Given the description of an element on the screen output the (x, y) to click on. 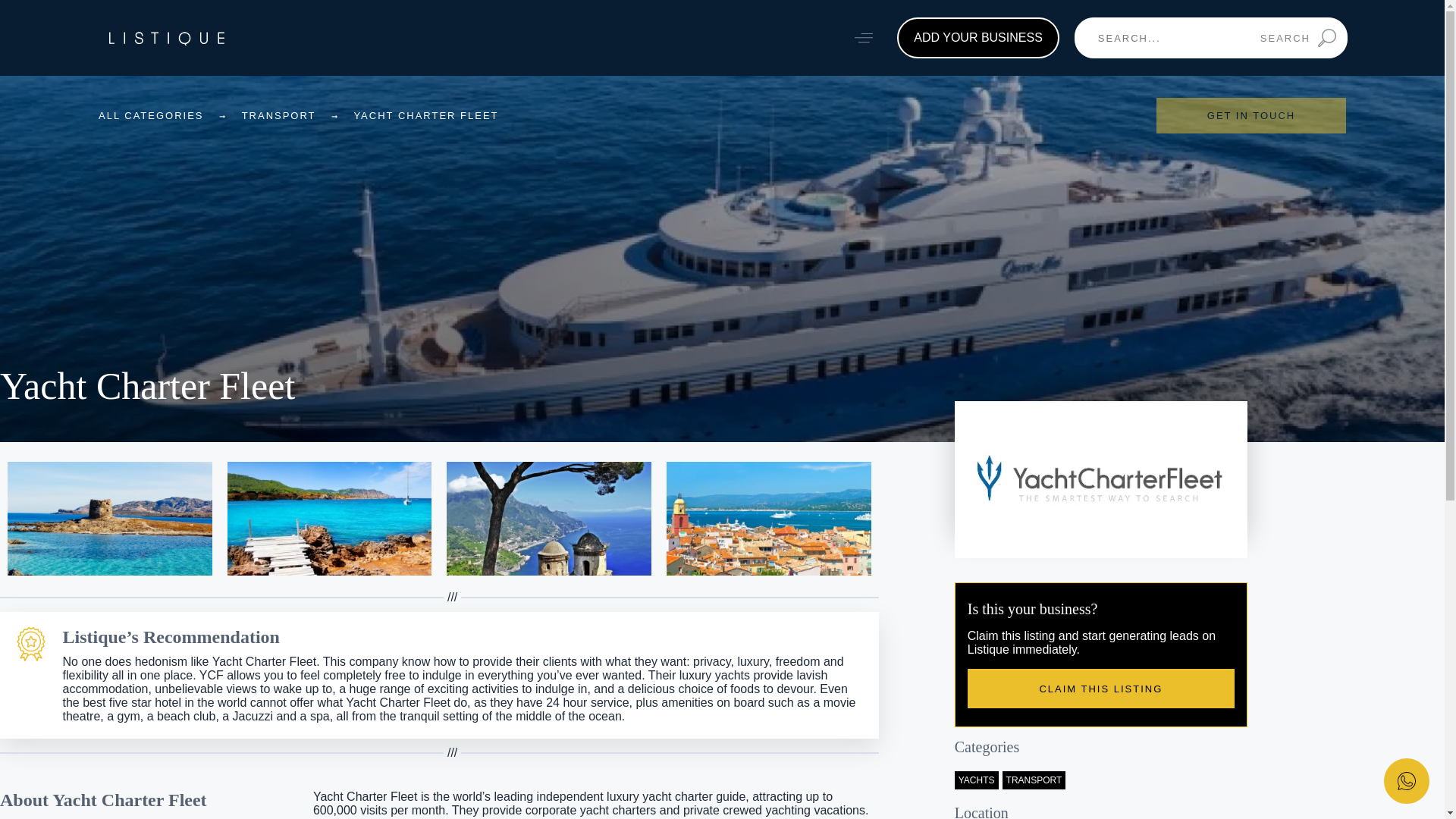
ALL CATEGORIES (151, 115)
CLAIM THIS LISTING (1101, 688)
YACHT CHARTER FLEET (425, 115)
SEARCH (1297, 37)
ADD YOUR BUSINESS (977, 37)
GET IN TOUCH (1250, 115)
TRANSPORT (278, 115)
